Given the description of an element on the screen output the (x, y) to click on. 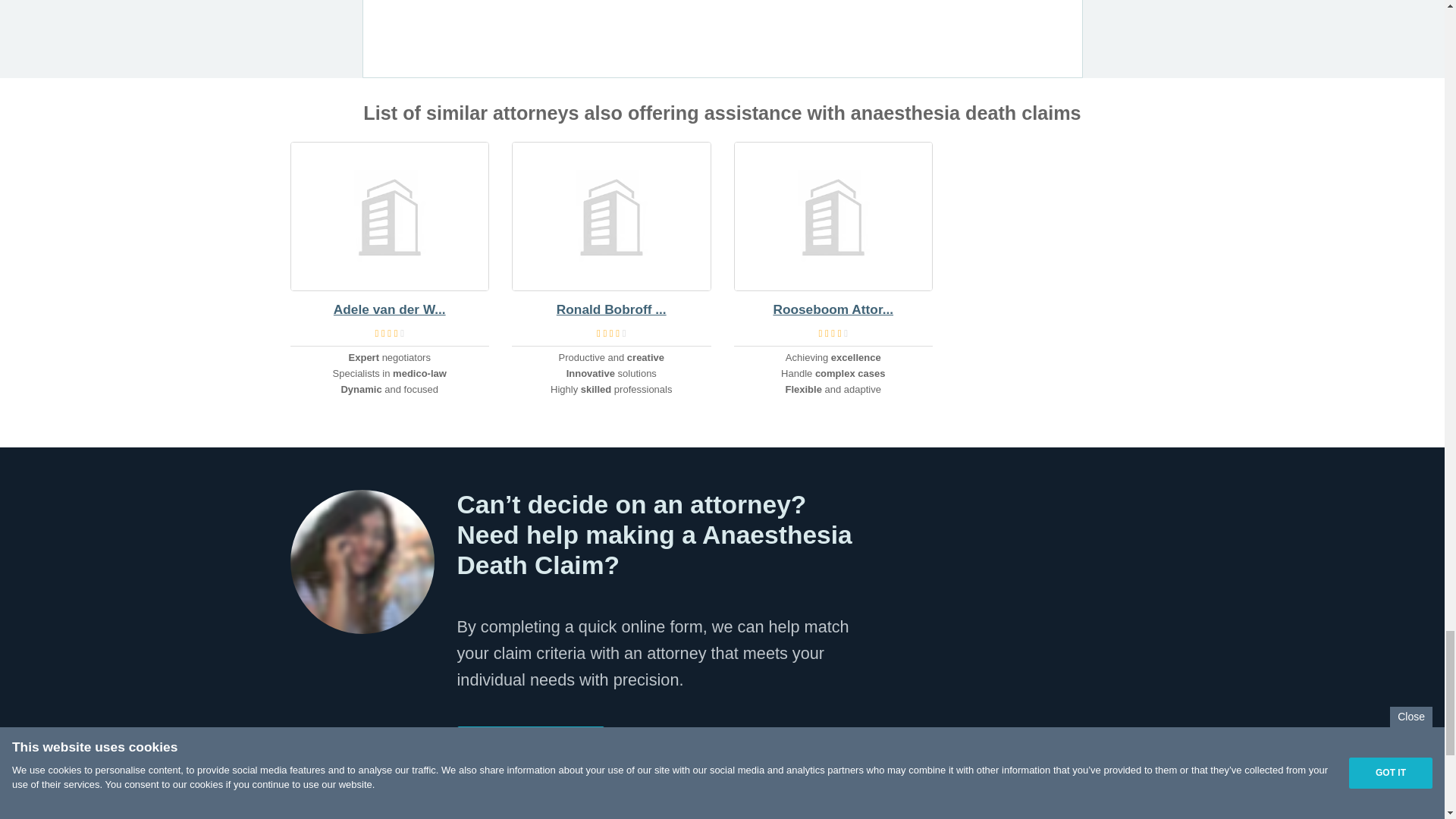
Adele van der W... (389, 309)
